Given the description of an element on the screen output the (x, y) to click on. 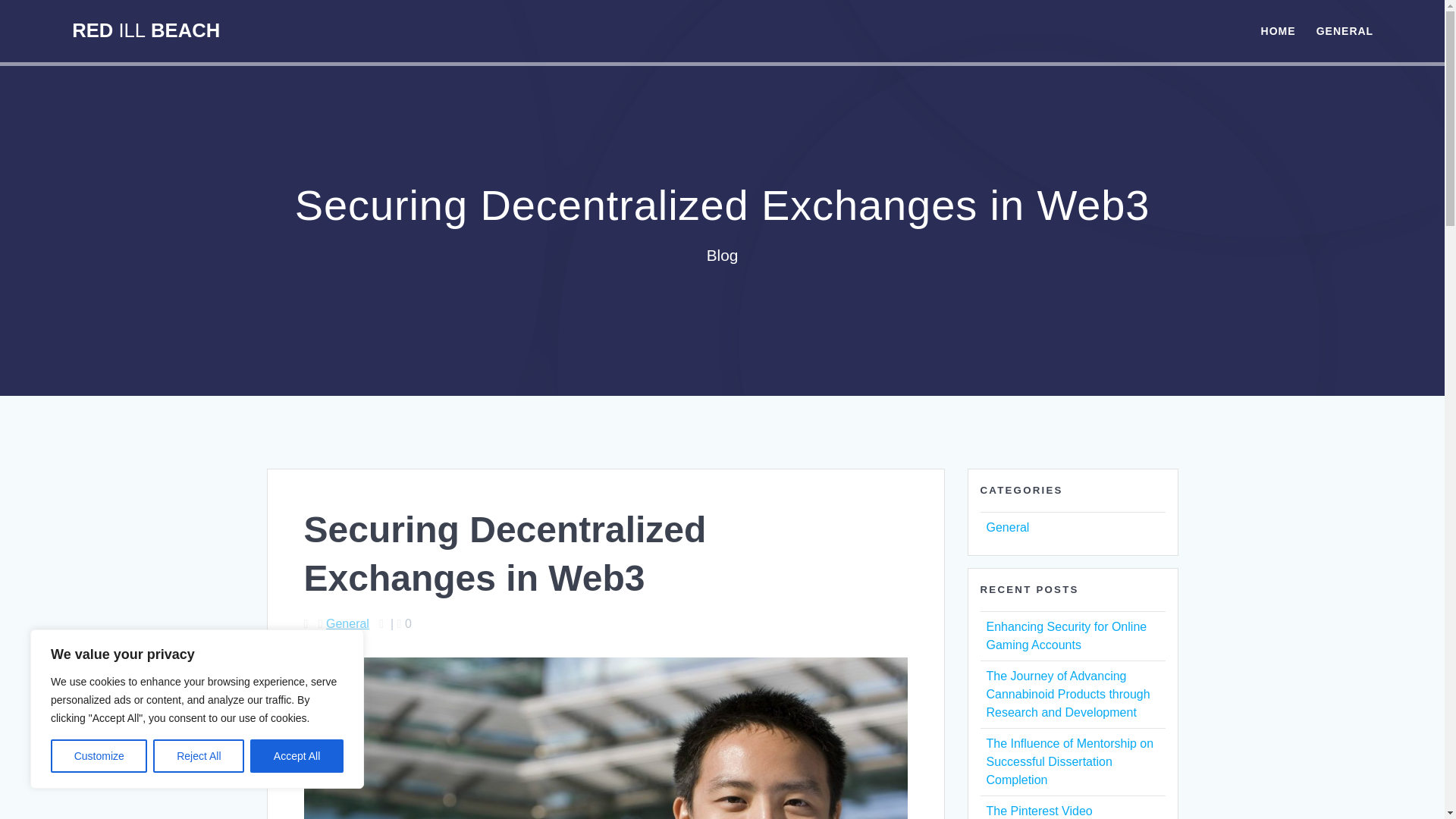
General (1007, 526)
Reject All (198, 756)
Customize (98, 756)
The Pinterest Video Downloader Revolution (1047, 811)
RED ILL BEACH (145, 30)
Enhancing Security for Online Gaming Accounts (1066, 635)
Accept All (296, 756)
HOME (1277, 30)
GENERAL (1344, 30)
General (347, 623)
